Given the description of an element on the screen output the (x, y) to click on. 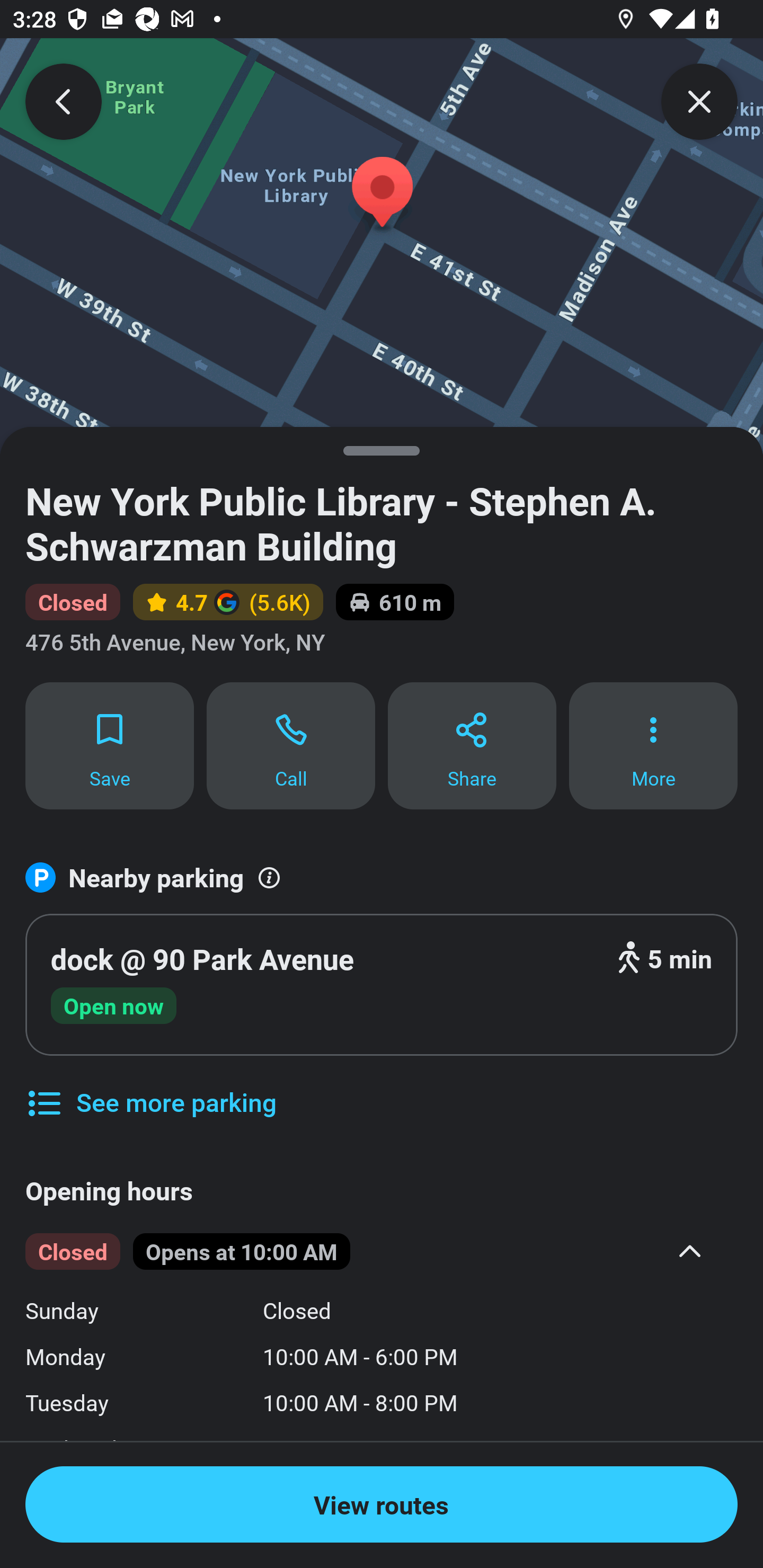
Save (109, 745)
Call (290, 745)
Share (471, 745)
More (653, 745)
dock @ 90 Park Avenue 5 min Open now (381, 984)
See more parking (150, 1088)
Closed Opens at 10:00 AM (368, 1251)
View routes (381, 1504)
